Given the description of an element on the screen output the (x, y) to click on. 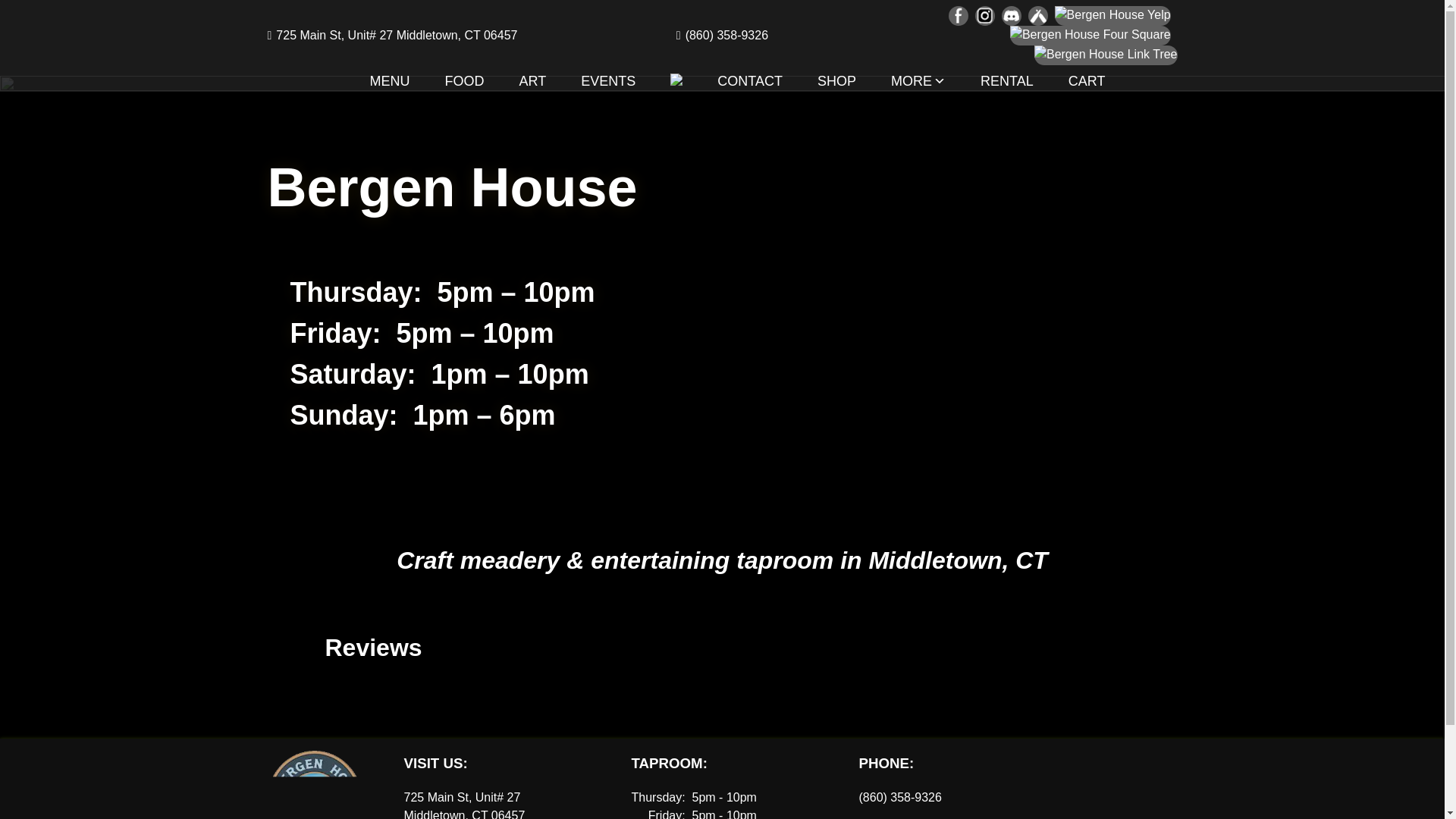
SHOP (836, 81)
CART (1086, 81)
EVENTS (607, 81)
ART (533, 81)
Bergen House Yelp (1112, 14)
Bergen House Untappd (1037, 15)
MENU (389, 81)
RENTAL (1006, 81)
CONTACT (750, 81)
Bergen House Four Square (1090, 34)
